Given the description of an element on the screen output the (x, y) to click on. 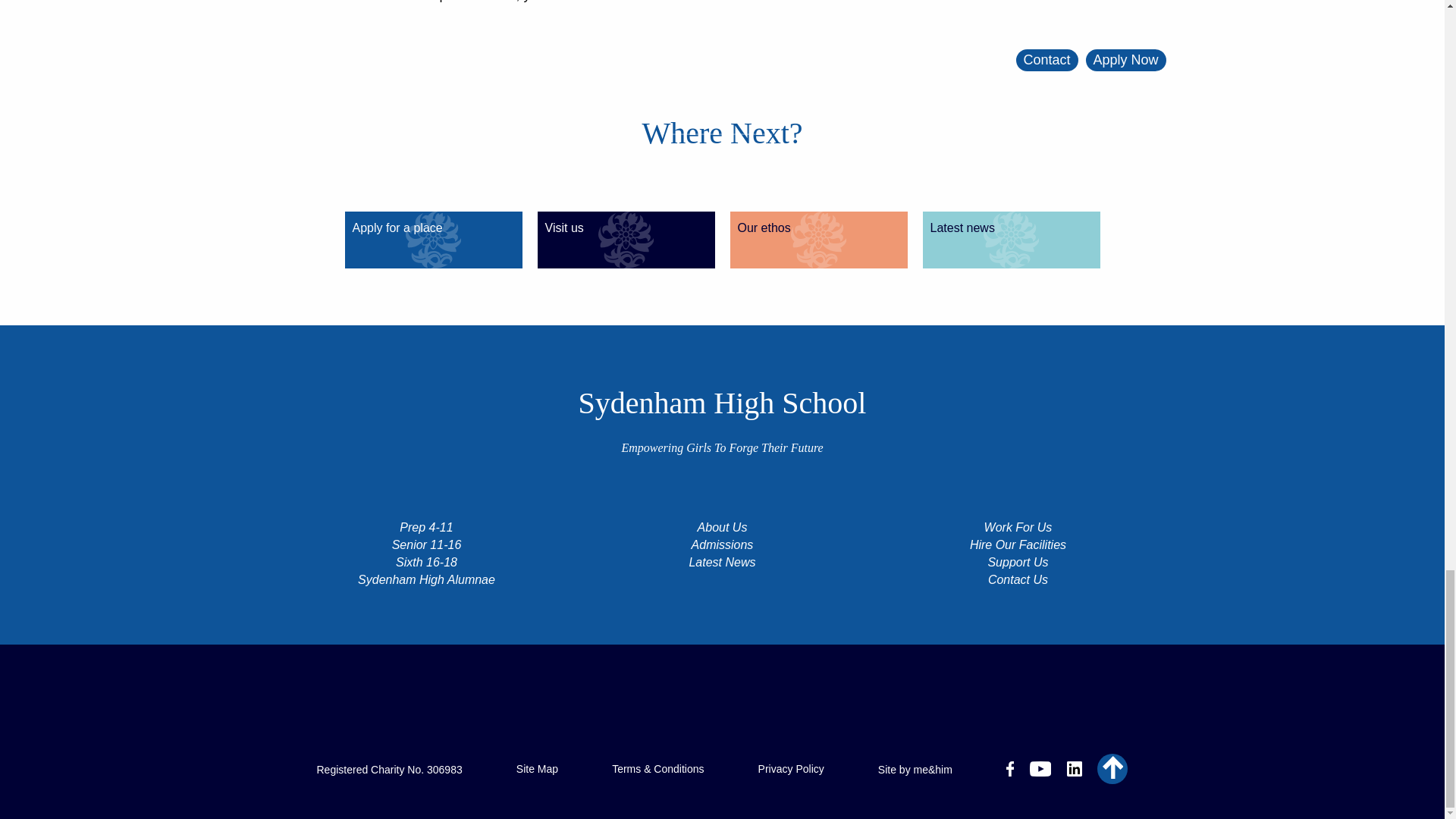
Sydenham High School Youtube Account (1040, 768)
Sydenham High School Youtube Account (1040, 771)
